Given the description of an element on the screen output the (x, y) to click on. 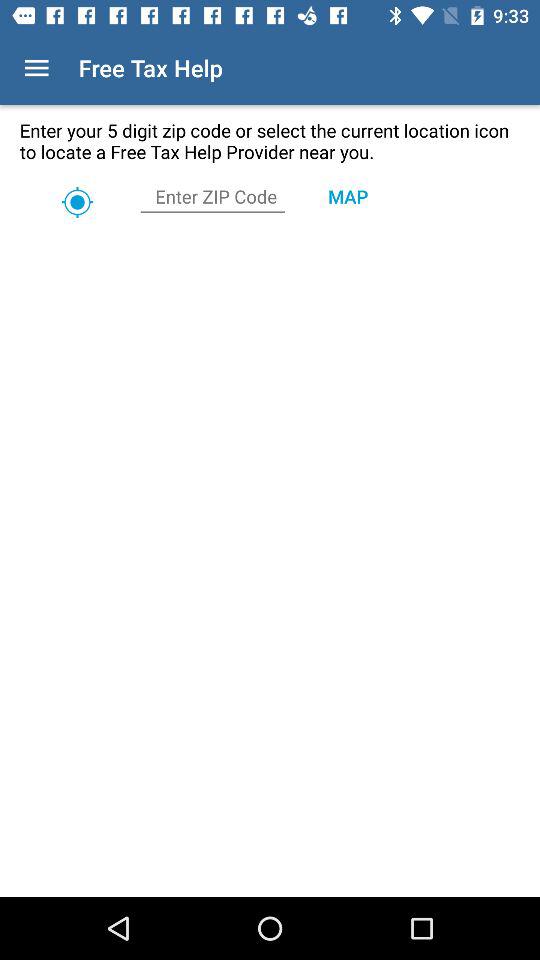
press the icon to the left of the free tax help app (36, 68)
